Given the description of an element on the screen output the (x, y) to click on. 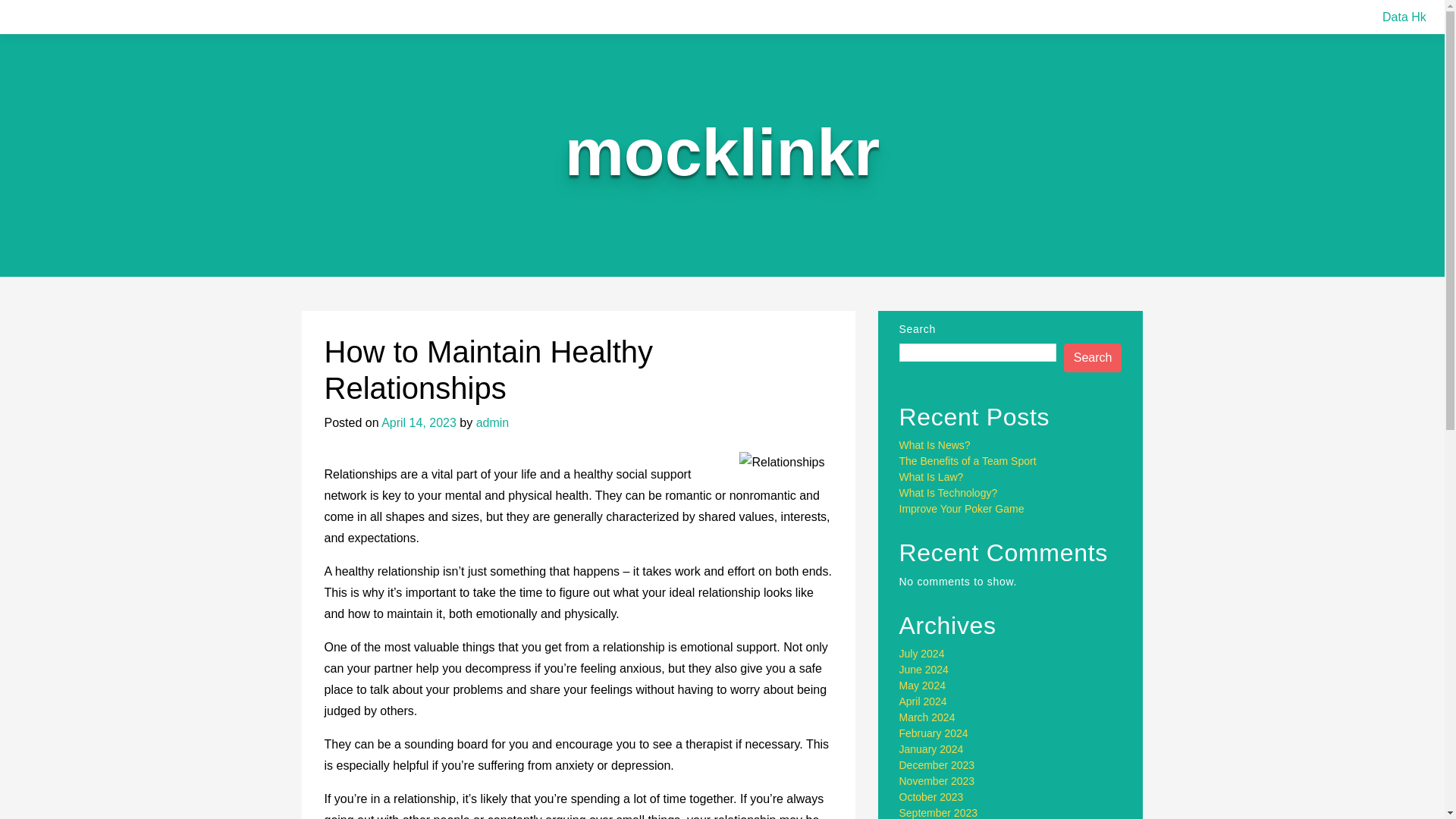
The Benefits of a Team Sport (967, 460)
Data Hk (1403, 16)
May 2024 (921, 685)
June 2024 (924, 669)
April 2024 (923, 701)
Search (1093, 357)
What Is Law? (931, 476)
January 2024 (931, 748)
March 2024 (927, 717)
What Is News? (935, 444)
